Given the description of an element on the screen output the (x, y) to click on. 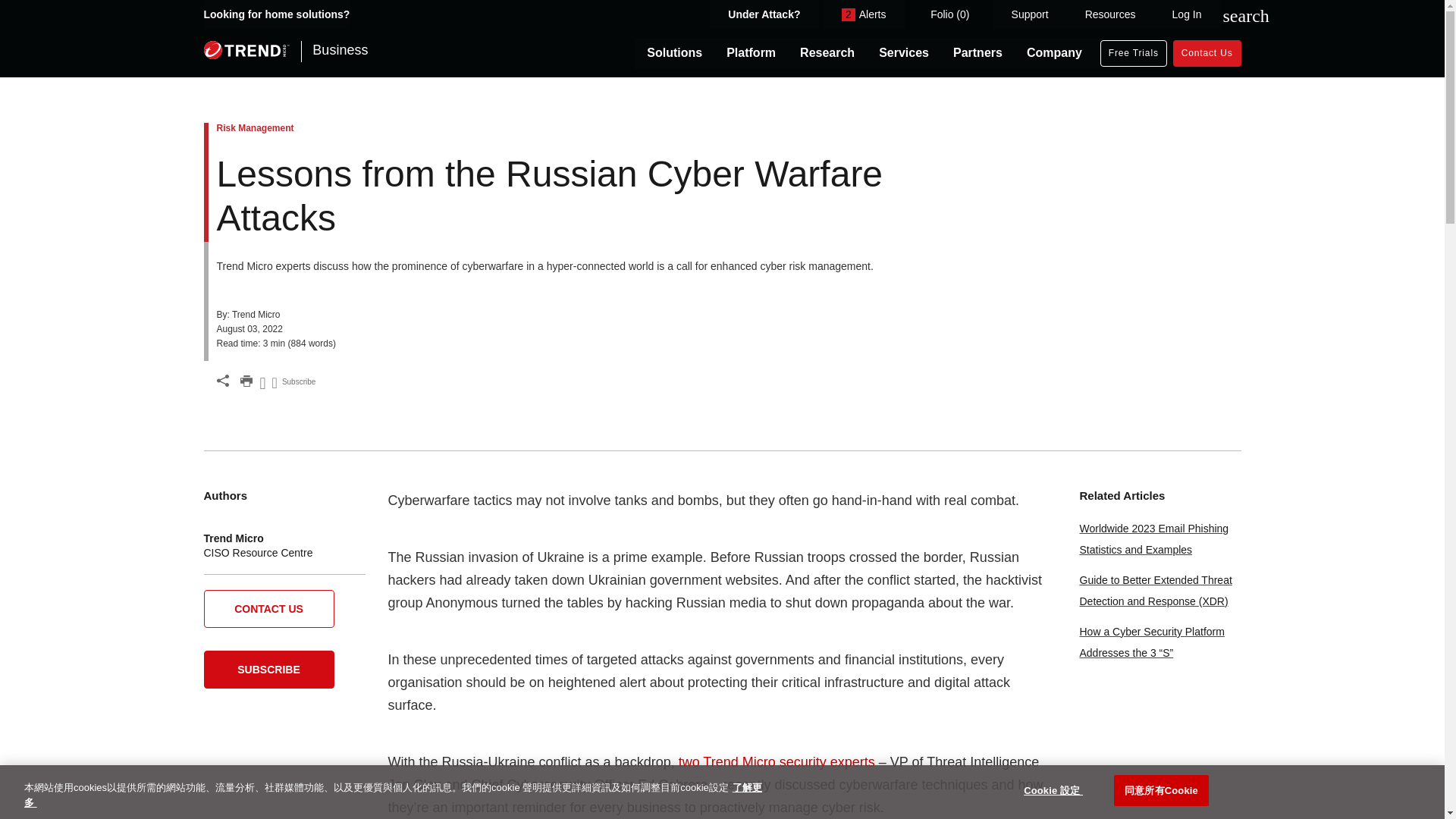
Subscribe (293, 383)
Business (275, 53)
